Given the description of an element on the screen output the (x, y) to click on. 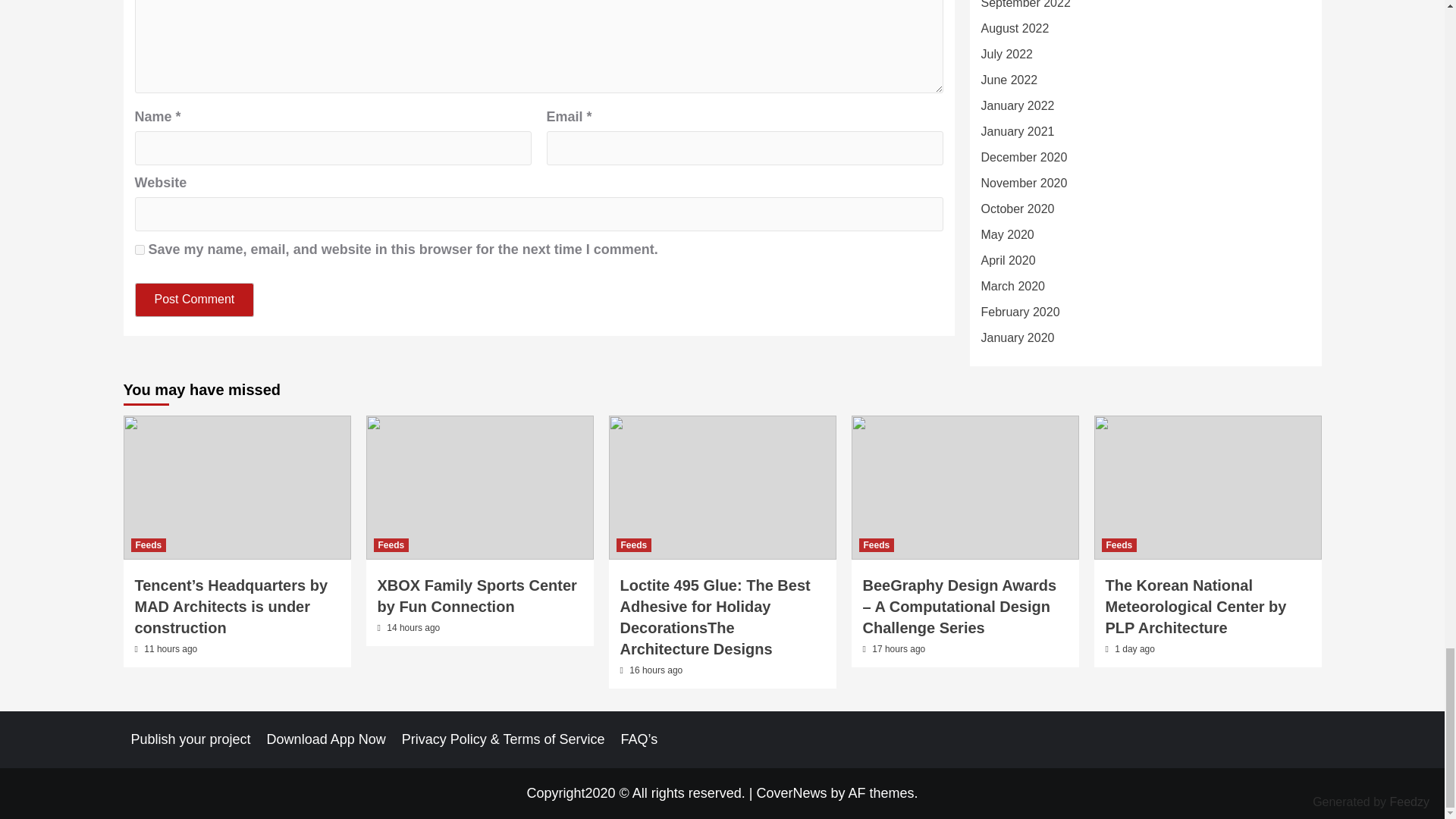
Post Comment (194, 298)
yes (139, 248)
Post Comment (194, 298)
